Given the description of an element on the screen output the (x, y) to click on. 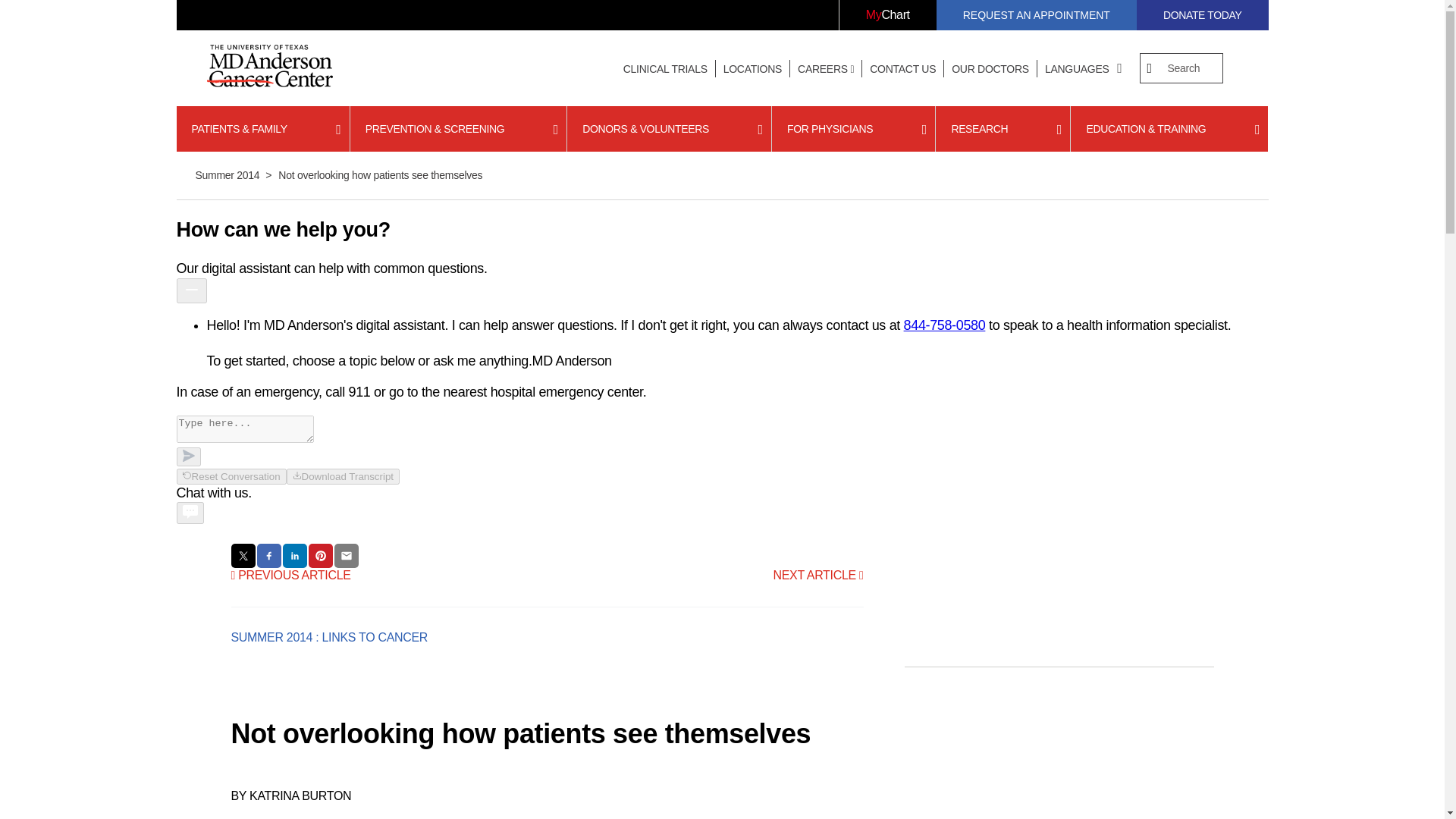
CLINICAL TRIALS (664, 69)
 Opens a new window (888, 15)
CONTACT US (902, 69)
CAREERS (825, 69)
OUR DOCTORS (989, 69)
MyChart (888, 15)
LOCATIONS (752, 69)
